Given the description of an element on the screen output the (x, y) to click on. 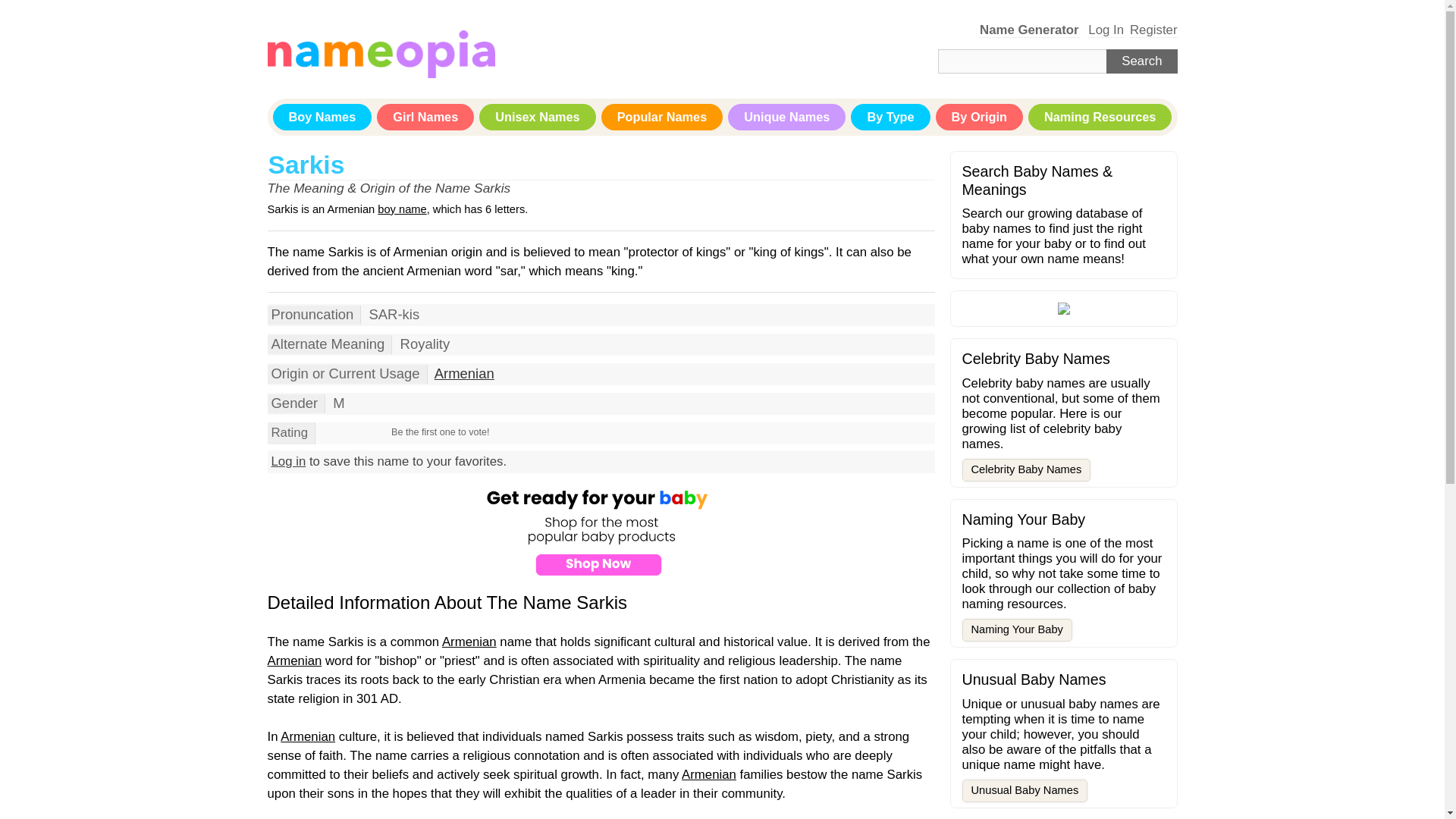
1 star out of 5 (324, 432)
Search (1141, 61)
2 (331, 432)
Armenian (464, 373)
Naming Resources (1099, 117)
Unique Names (786, 117)
5 stars out of 5 (351, 432)
3 stars out of 5 (338, 432)
5 (351, 432)
boy name (401, 209)
